Given the description of an element on the screen output the (x, y) to click on. 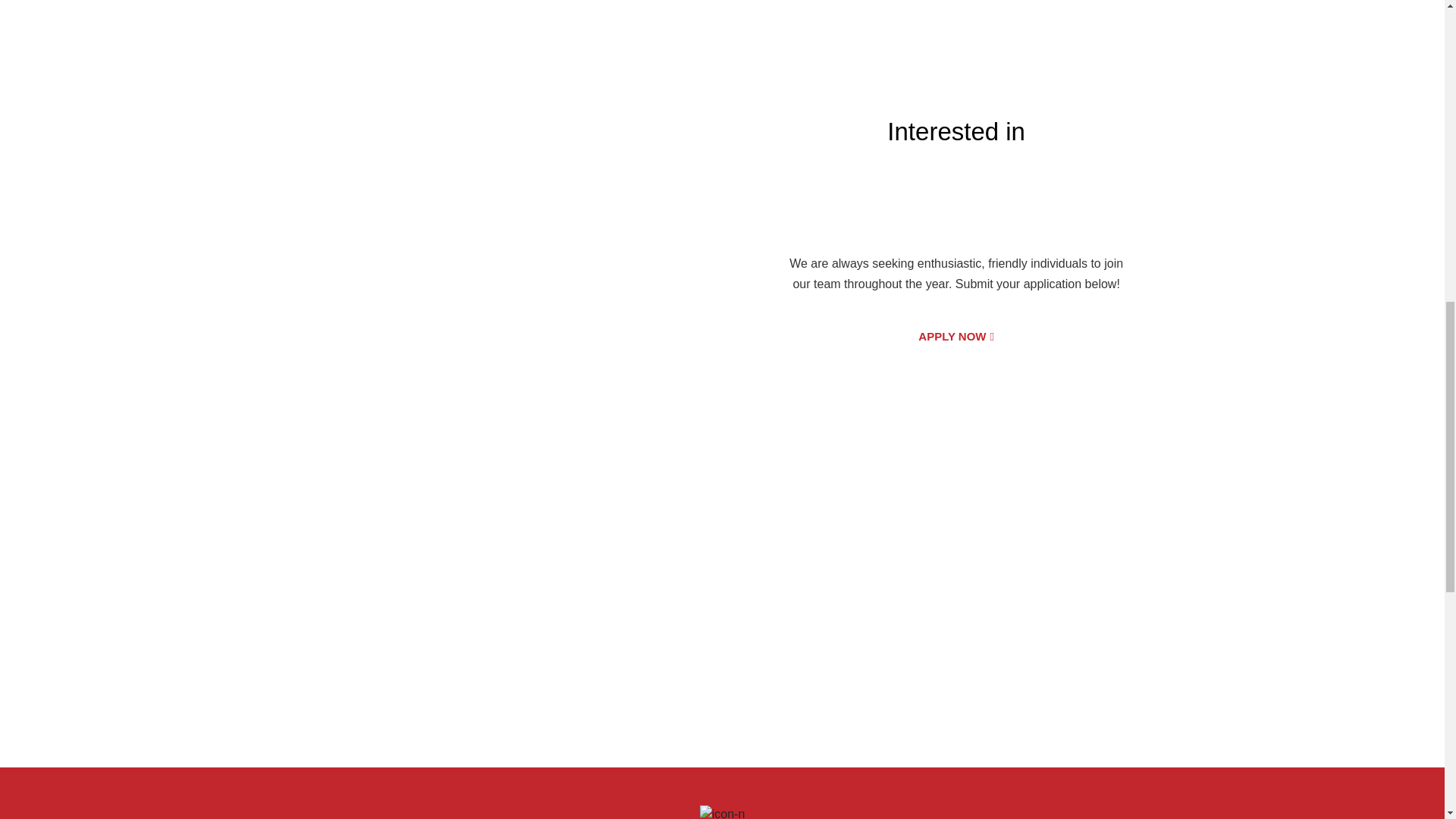
APPLY NOW (955, 336)
icon-n (722, 812)
